Given the description of an element on the screen output the (x, y) to click on. 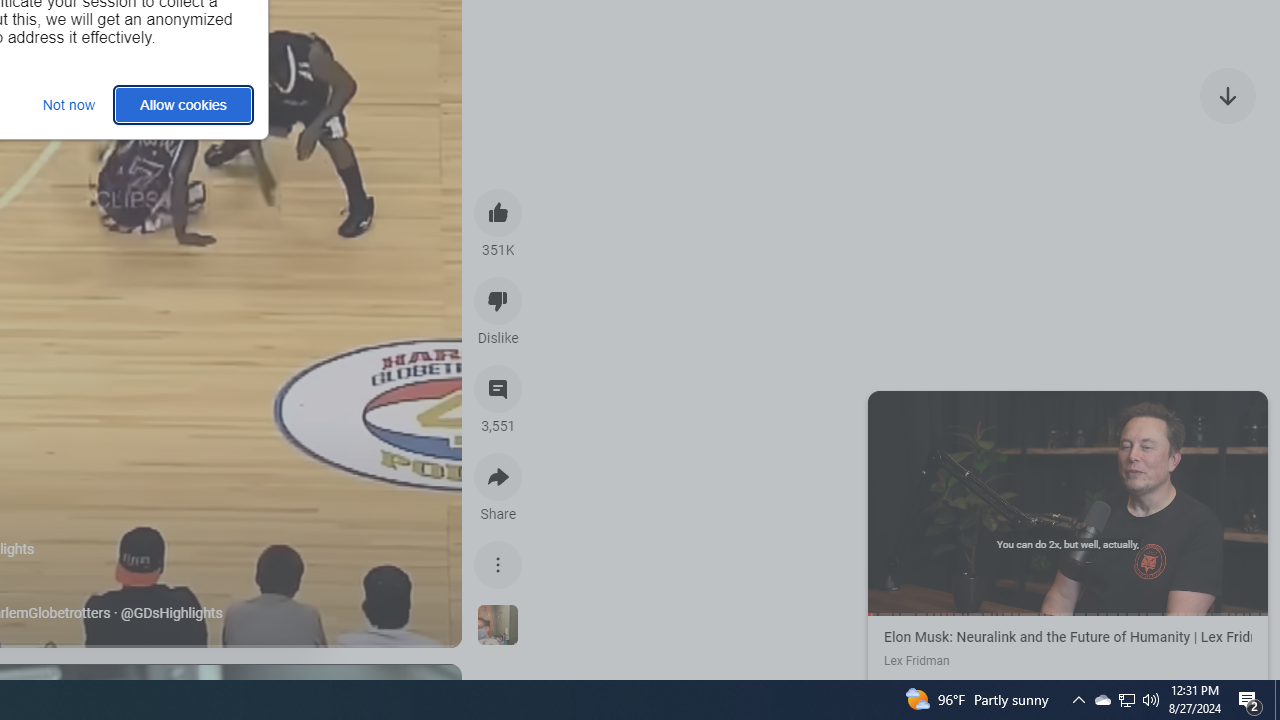
like this video along with 351K other people (498, 212)
See more videos using this sound (497, 626)
Allow cookies (183, 104)
Pause (k) (1067, 501)
Expand (i) (887, 410)
More actions (498, 564)
Dislike this video (498, 300)
Next (SHIFT+n) (1168, 501)
Seek slider (1067, 614)
Next video (1227, 94)
Not now (68, 104)
Share (498, 476)
